Given the description of an element on the screen output the (x, y) to click on. 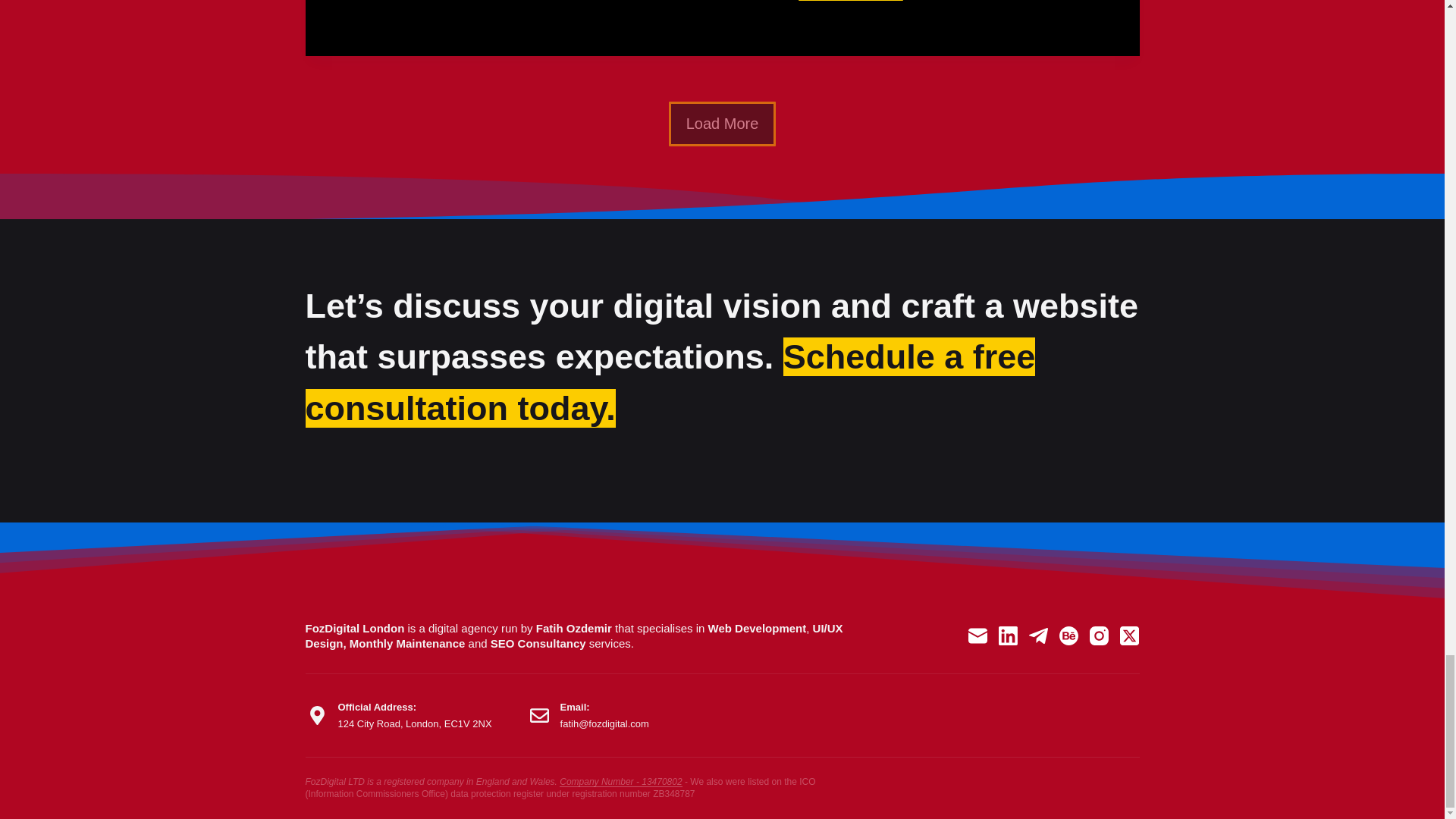
Company Number - 13470802 (620, 781)
Load More (849, 0)
